Given the description of an element on the screen output the (x, y) to click on. 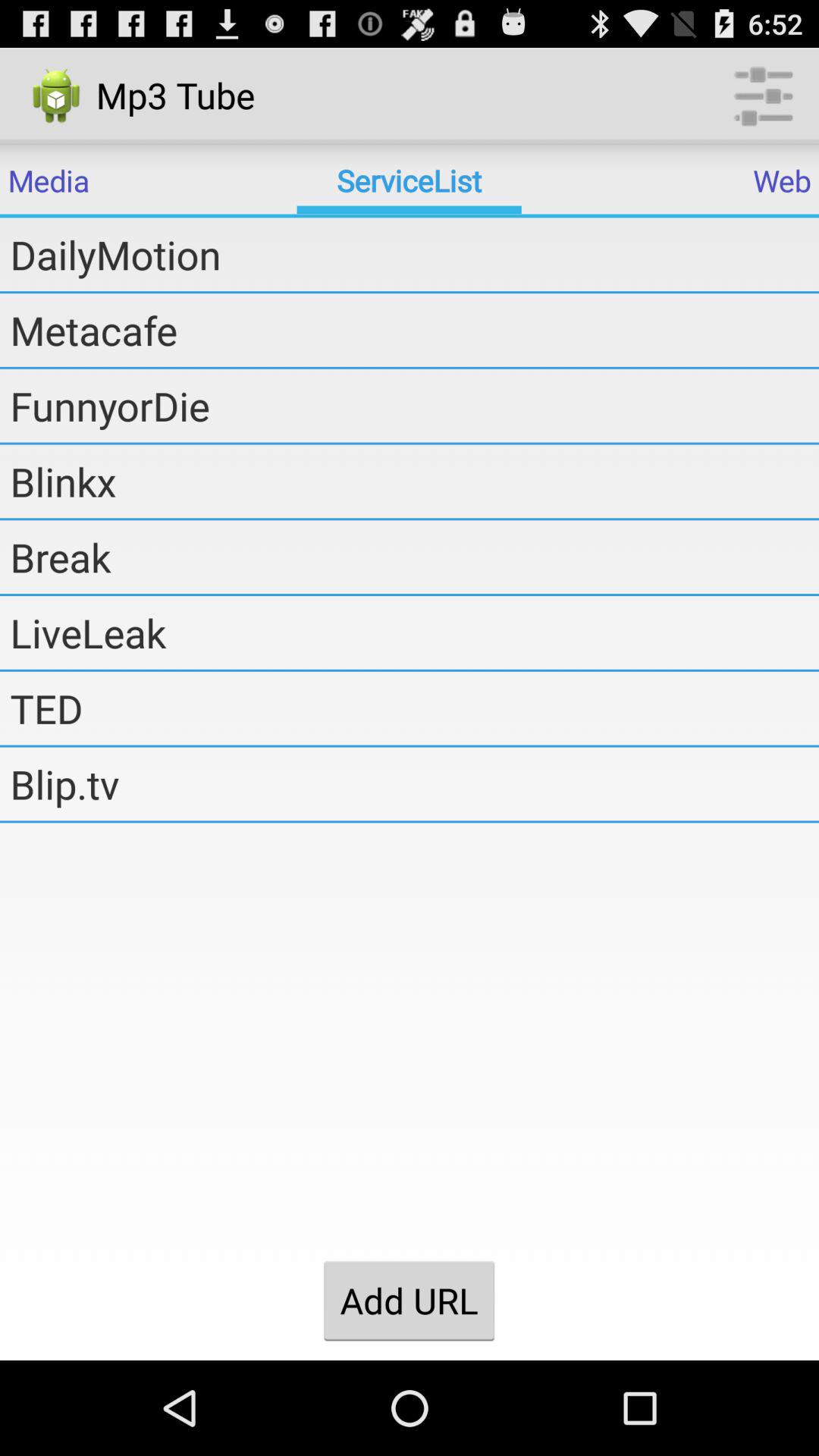
select the icon next to mp3 tube icon (763, 95)
